Given the description of an element on the screen output the (x, y) to click on. 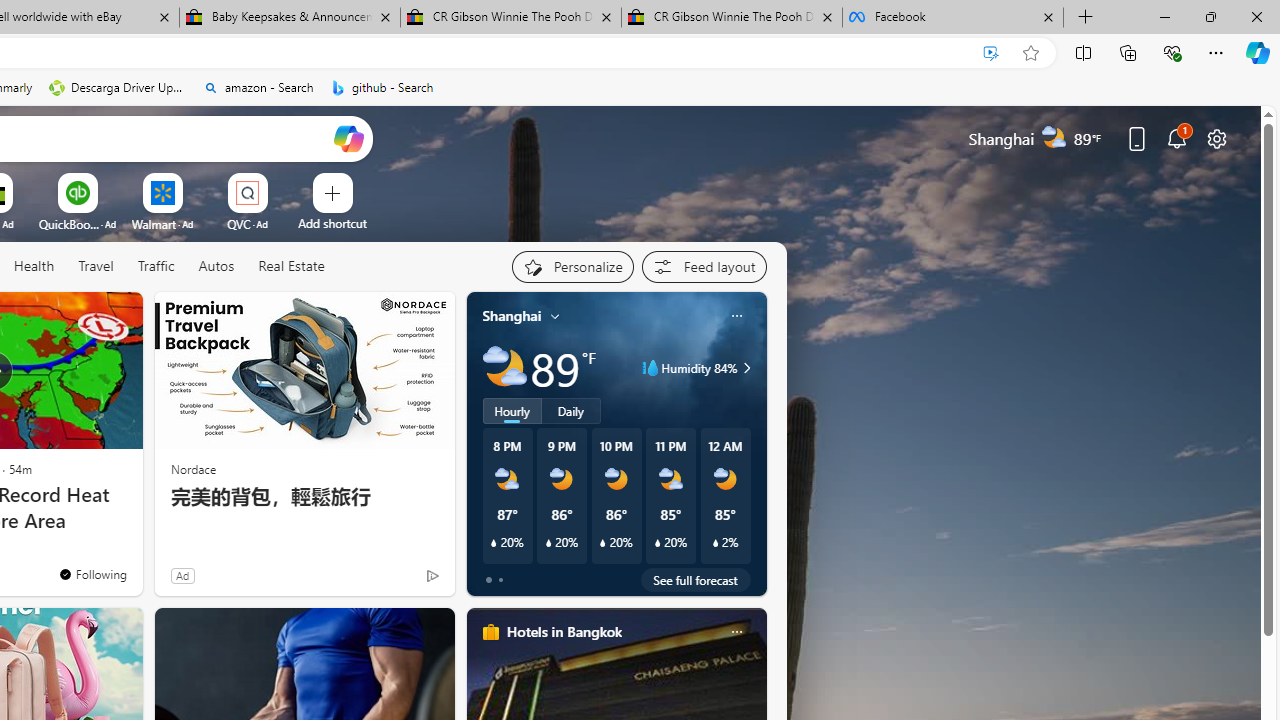
My location (555, 315)
Hide this story (82, 315)
Shanghai (511, 315)
Personalize your feed" (571, 266)
Partly cloudy (504, 368)
Notifications (1176, 138)
Add this page to favorites (Ctrl+D) (1030, 53)
Browser essentials (1171, 52)
Real Estate (290, 267)
